Given the description of an element on the screen output the (x, y) to click on. 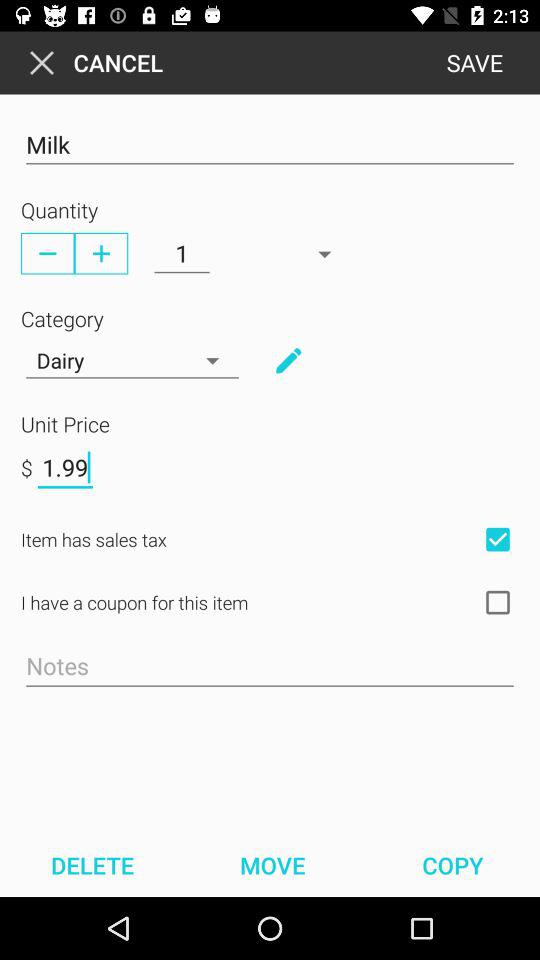
enter notes (270, 667)
